Given the description of an element on the screen output the (x, y) to click on. 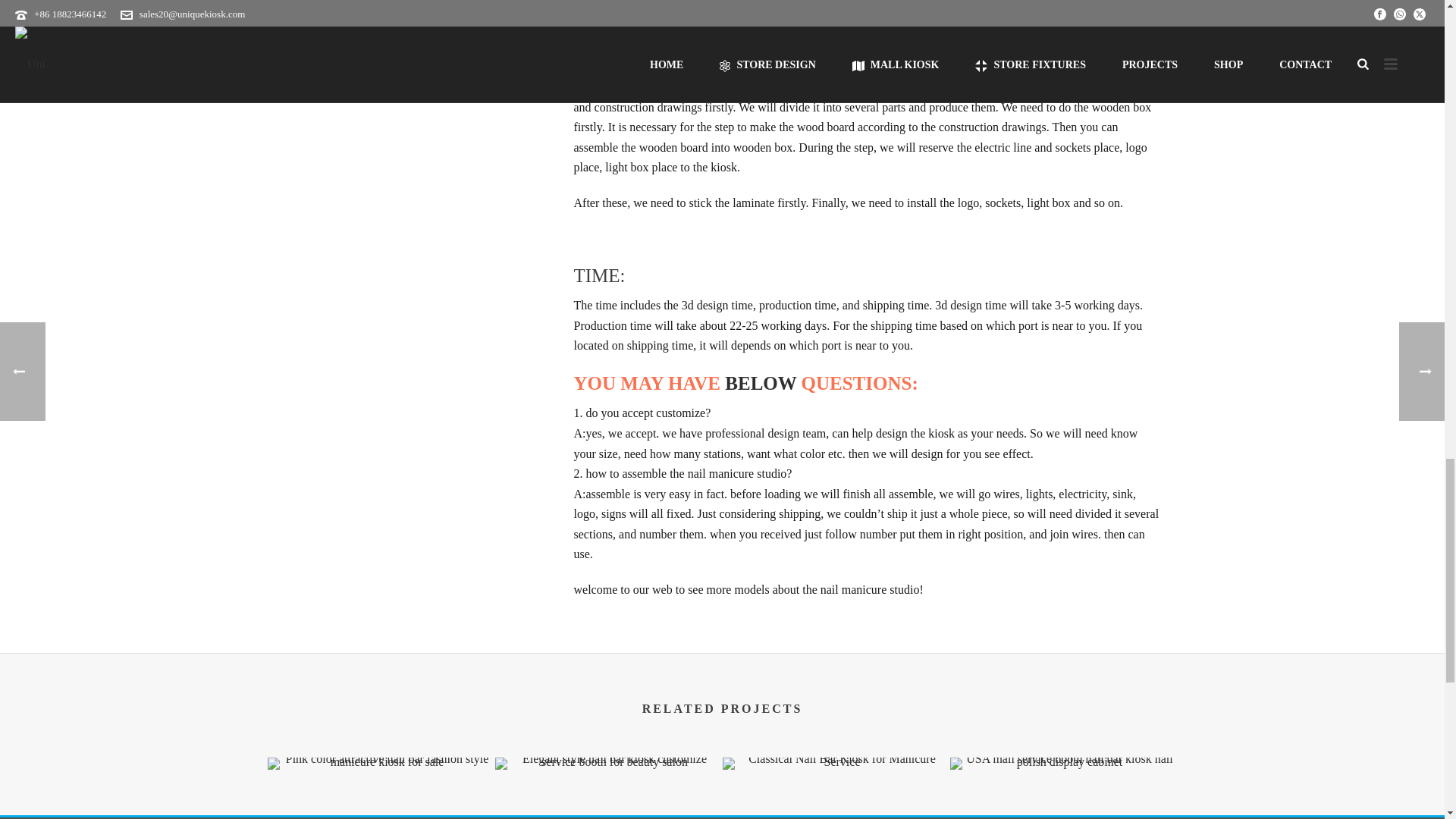
Classical Nail Bar Kiosk for Manicure Service (835, 763)
